Given the description of an element on the screen output the (x, y) to click on. 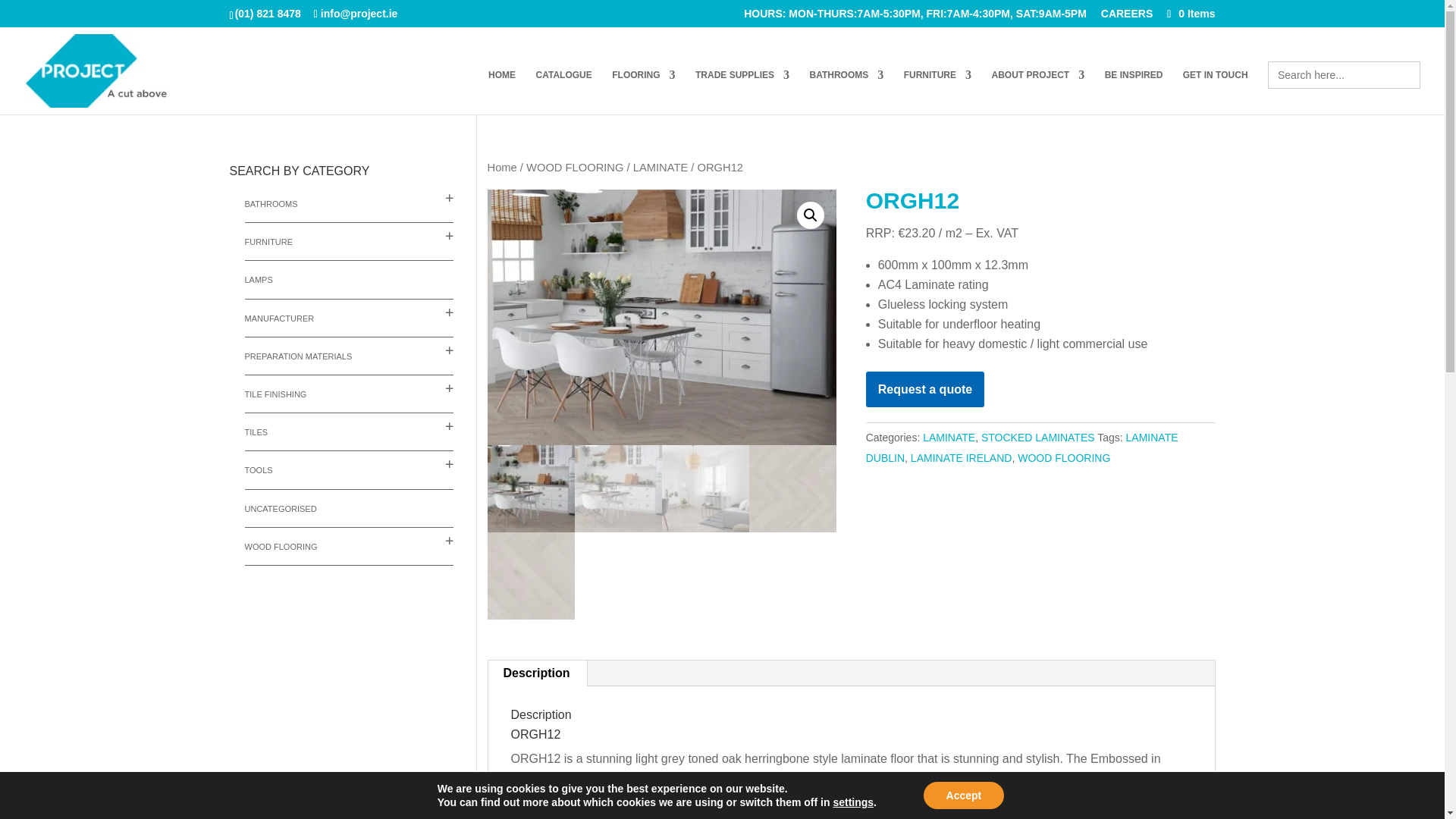
CATALOGUE (563, 91)
HOURS: MON-THURS:7AM-5:30PM, FRI:7AM-4:30PM, SAT:9AM-5PM (915, 16)
0 Items (1188, 13)
CAREERS (1126, 16)
FLOORING (643, 91)
TRADE SUPPLIES (742, 91)
ORGH12 Laminate Flooring - Setting (660, 317)
